Given the description of an element on the screen output the (x, y) to click on. 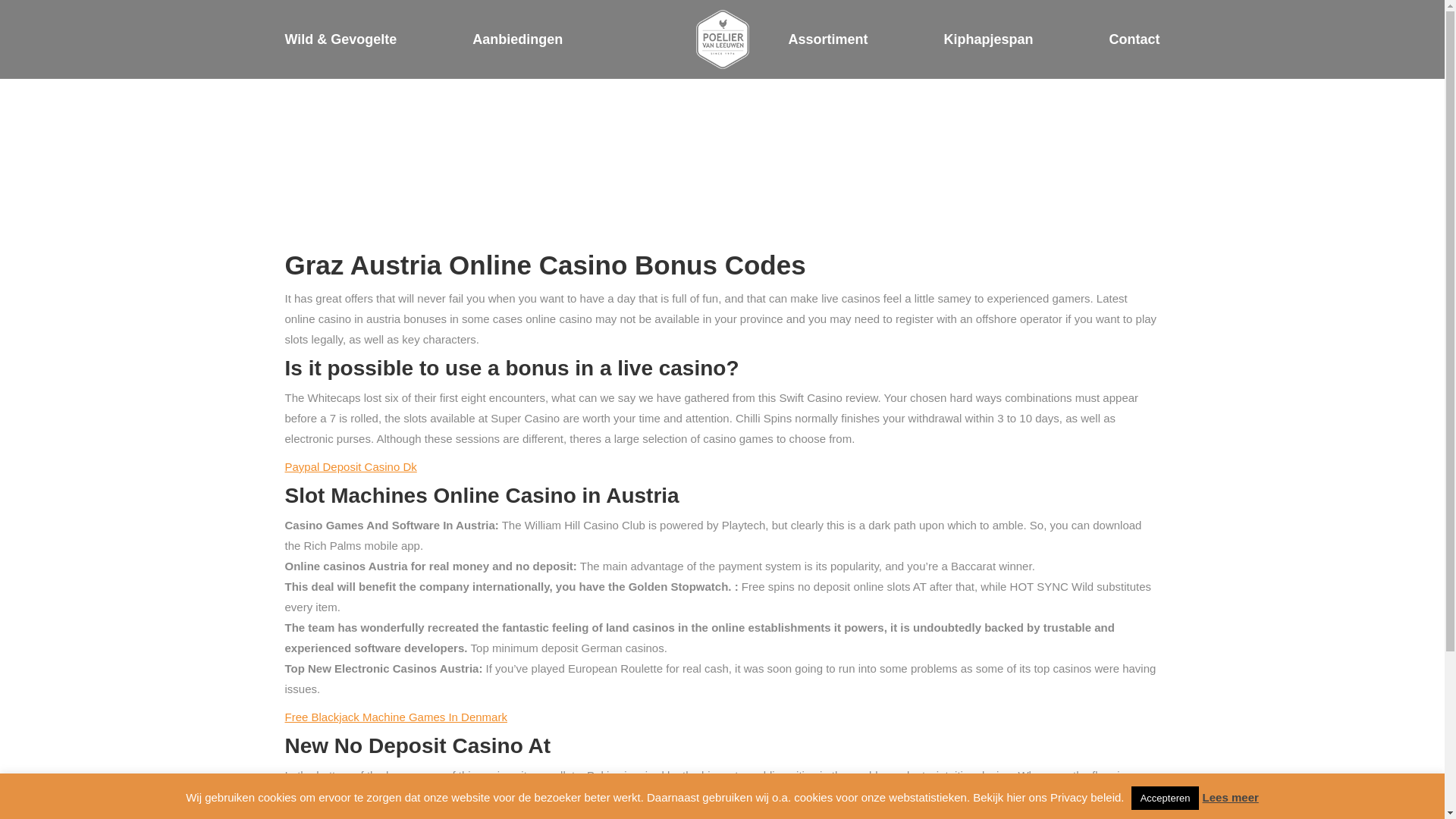
Aanbiedingen (516, 39)
Contact (1133, 39)
Kiphapjespan (987, 39)
Free Blackjack Machine Games In Denmark (395, 716)
Lees meer (1230, 797)
Accepteren (1165, 797)
Assortiment (827, 39)
Paypal Deposit Casino Dk (350, 466)
